Given the description of an element on the screen output the (x, y) to click on. 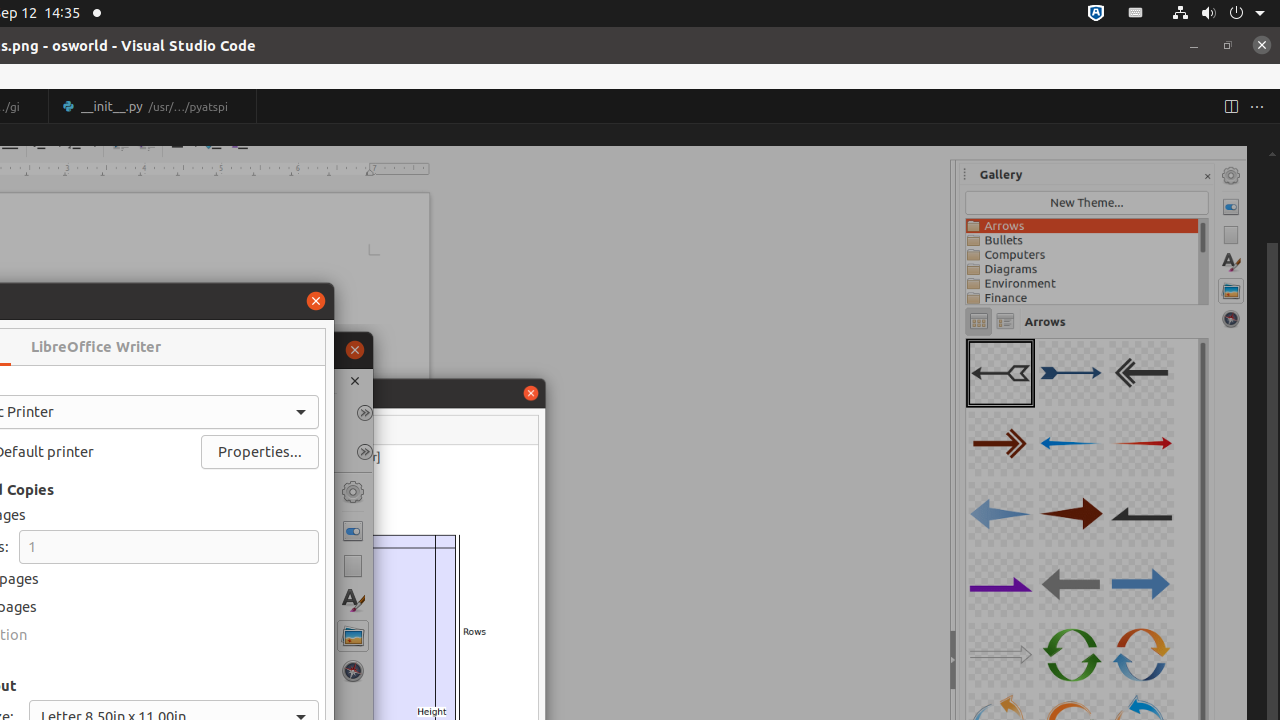
:1.21/StatusNotifierItem Element type: menu (1136, 13)
System Element type: menu (1218, 13)
:1.72/StatusNotifierItem Element type: menu (1096, 13)
